Given the description of an element on the screen output the (x, y) to click on. 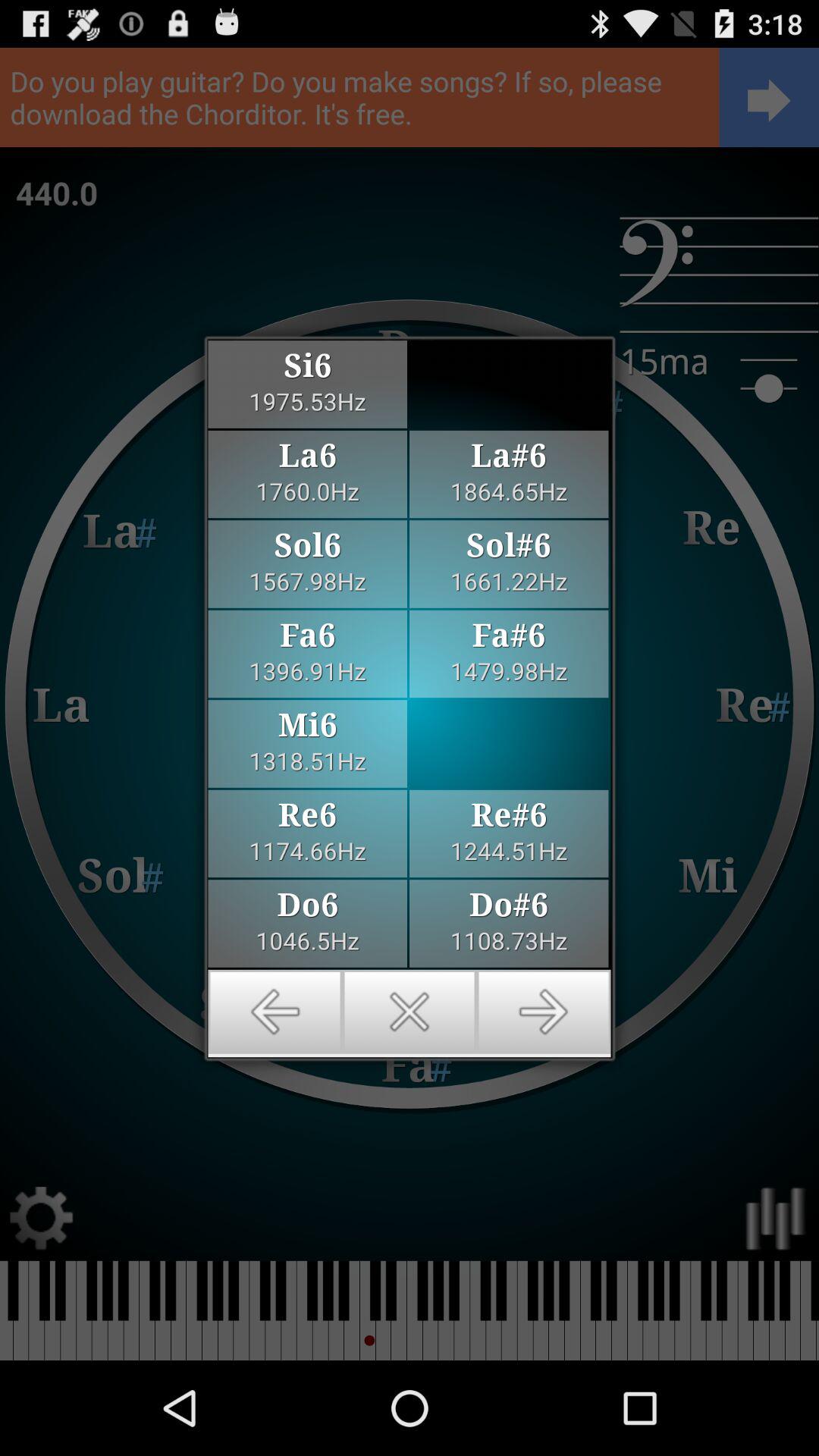
go forward (543, 1011)
